Given the description of an element on the screen output the (x, y) to click on. 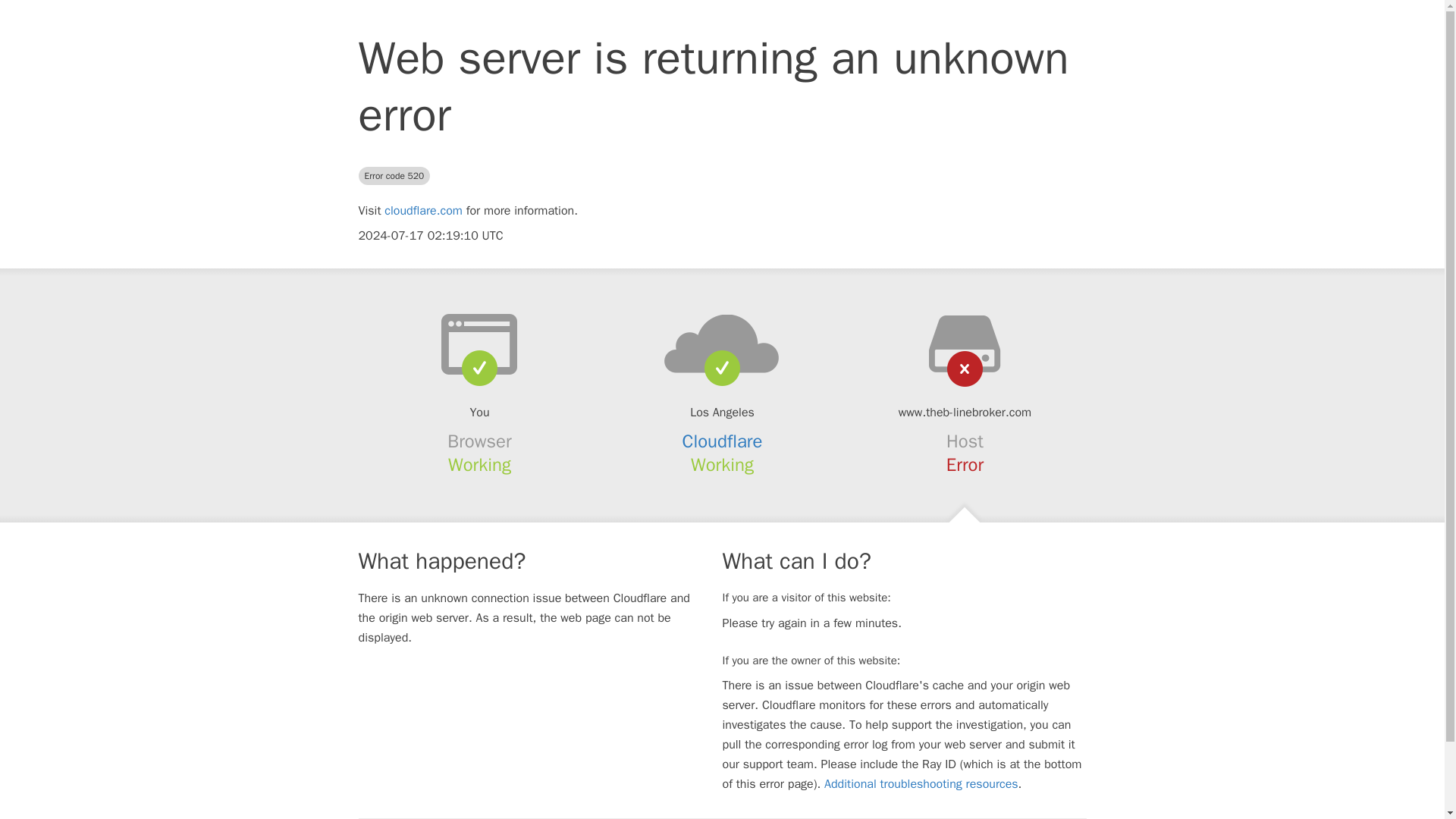
Additional troubleshooting resources (920, 783)
cloudflare.com (423, 210)
Cloudflare (722, 440)
